Given the description of an element on the screen output the (x, y) to click on. 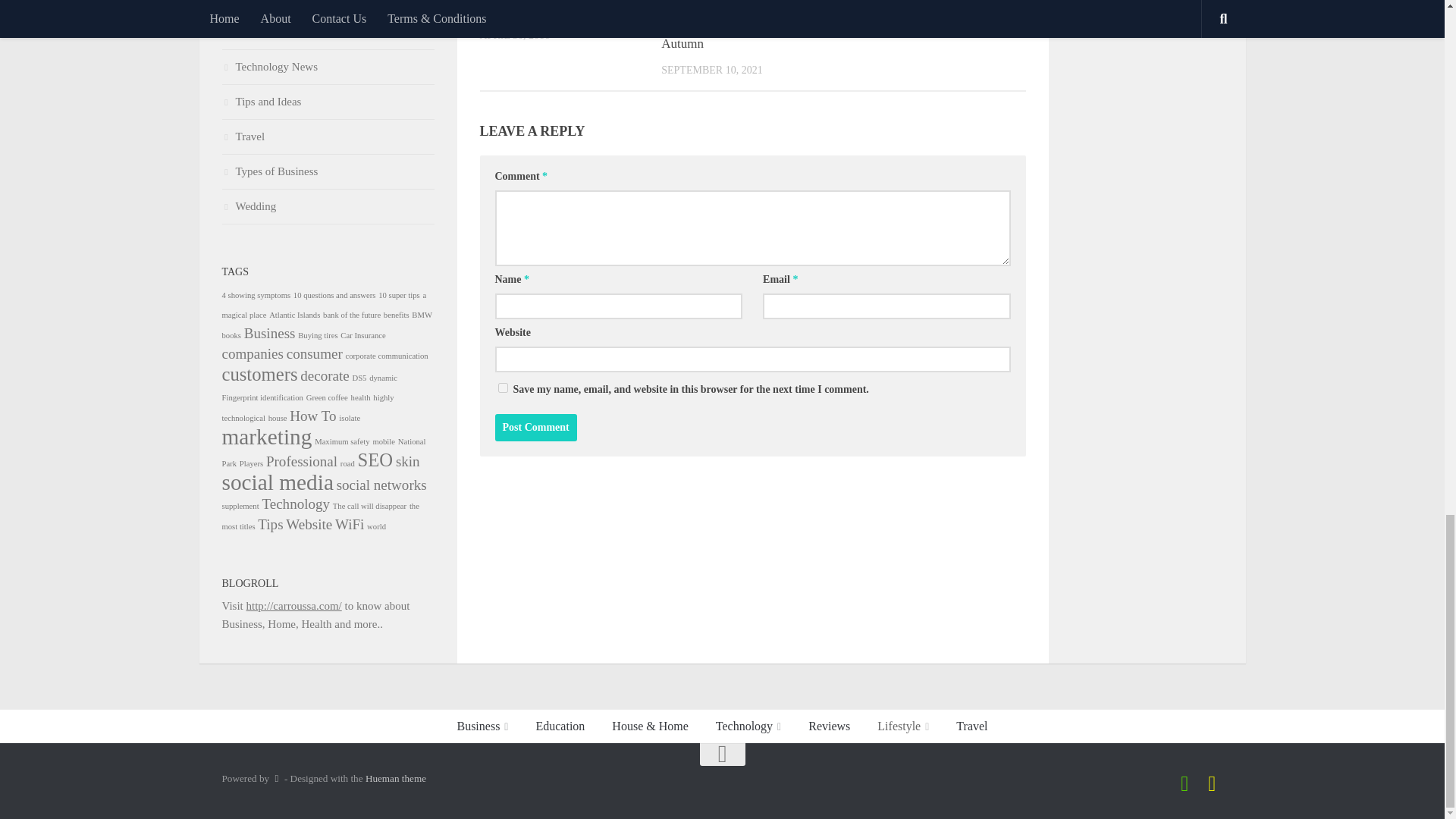
yes (501, 388)
Do Lipids are important in the diet? (556, 8)
Post Comment (535, 427)
